Given the description of an element on the screen output the (x, y) to click on. 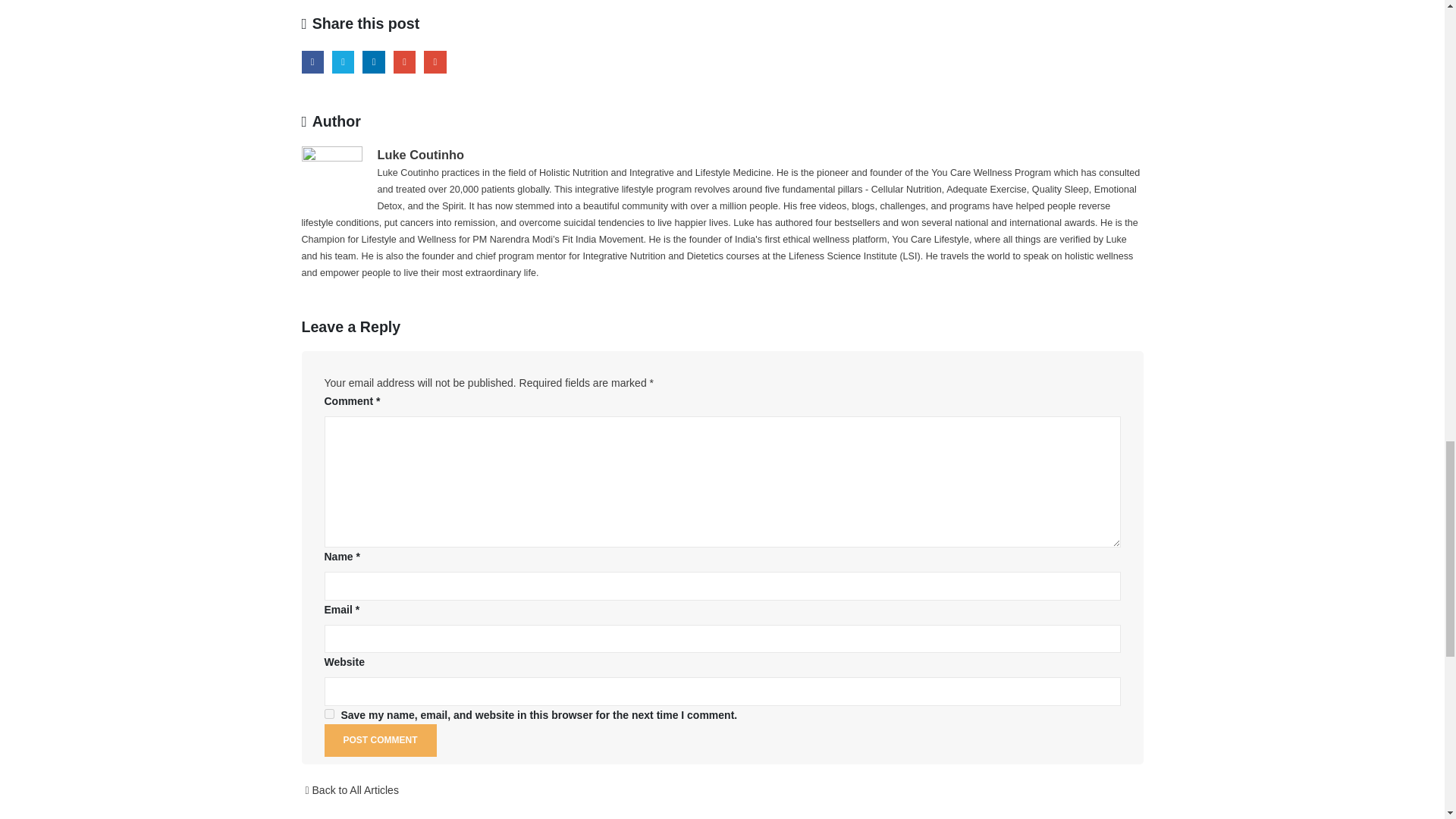
Email (434, 61)
Post Comment (380, 739)
Facebook (312, 61)
LinkedIn (373, 61)
yes (329, 714)
Twitter (342, 61)
